Given the description of an element on the screen output the (x, y) to click on. 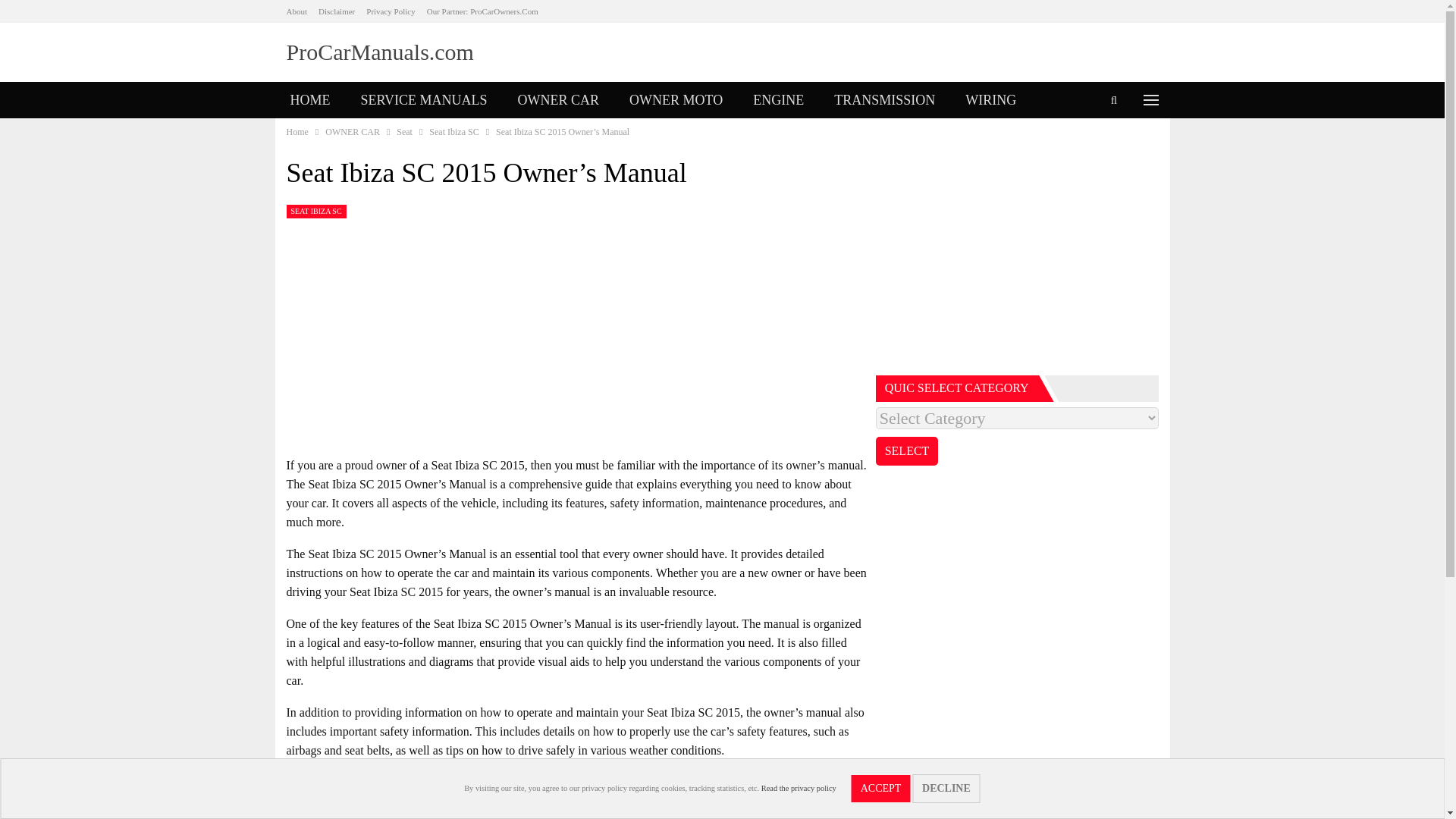
Read the privacy policy (798, 787)
About (296, 10)
Disclaimer (336, 10)
SERVICE MANUALS (424, 99)
OWNER CAR (558, 99)
ACCEPT (881, 788)
ProCarManuals.com (380, 51)
ENGINE (778, 99)
TRANSMISSION (884, 99)
Our Partner: ProCarOwners.Com (482, 10)
